Given the description of an element on the screen output the (x, y) to click on. 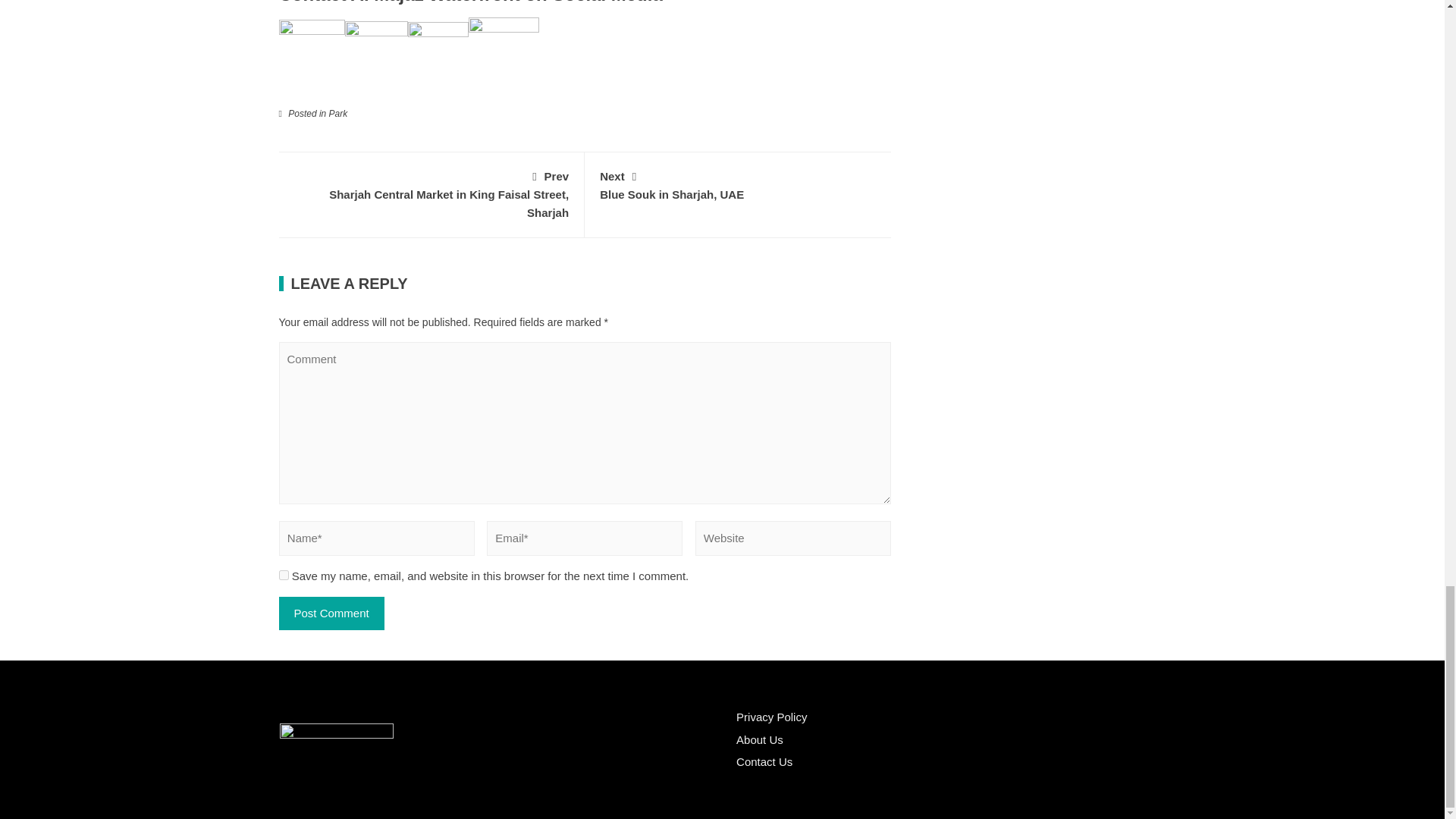
Post Comment (737, 183)
Park (331, 613)
yes (431, 193)
Post Comment (338, 113)
